Given the description of an element on the screen output the (x, y) to click on. 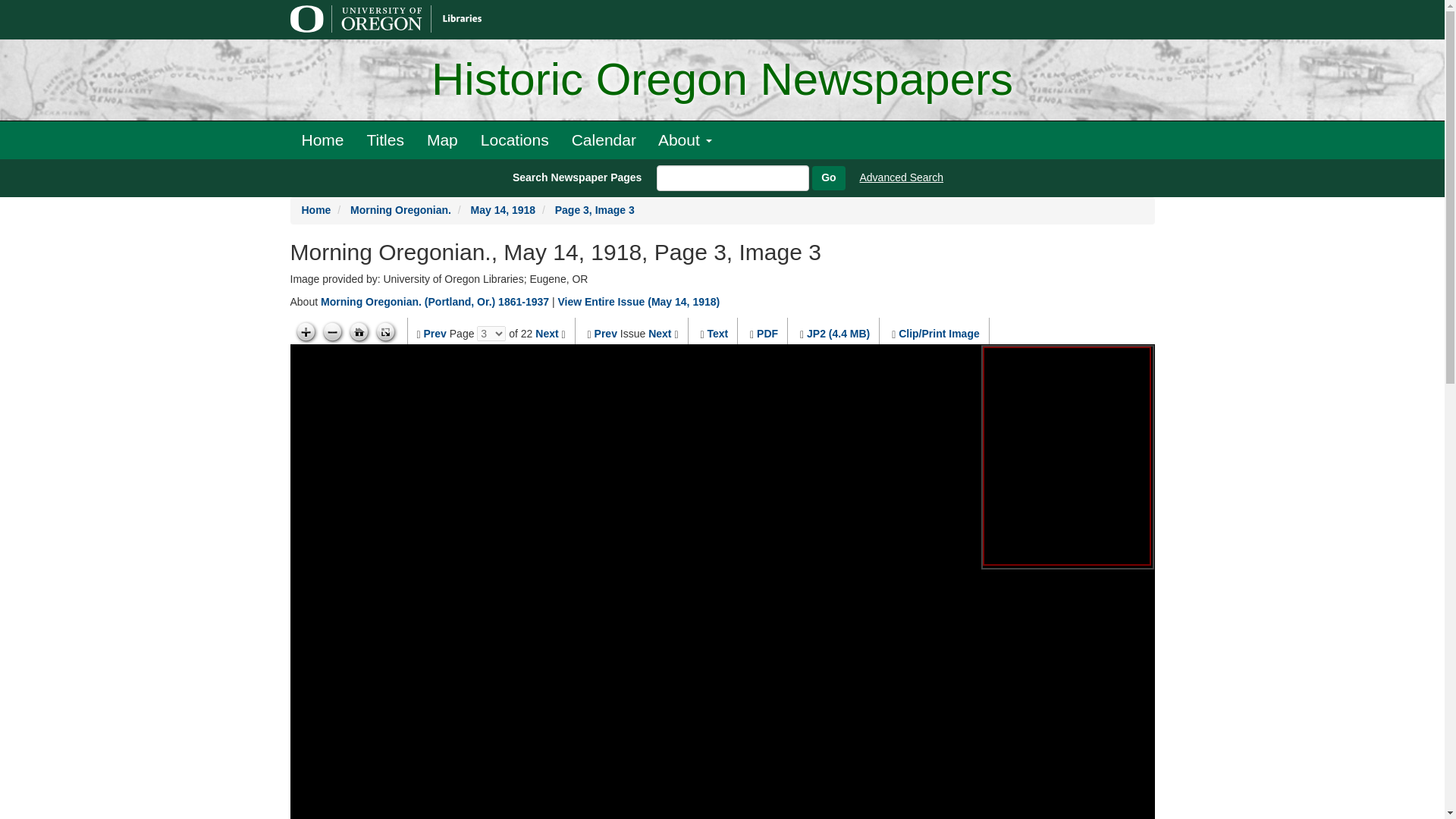
Zoom in (305, 332)
Advanced Search (901, 177)
Go home (359, 332)
Next (659, 333)
Prev (605, 333)
Zoom out (332, 332)
Next (546, 333)
Text (717, 333)
Historic Oregon Newspapers (721, 79)
Calendar (603, 139)
About (684, 140)
Go (828, 178)
Morning Oregonian. (400, 209)
Locations (514, 139)
Toggle full page (385, 332)
